Given the description of an element on the screen output the (x, y) to click on. 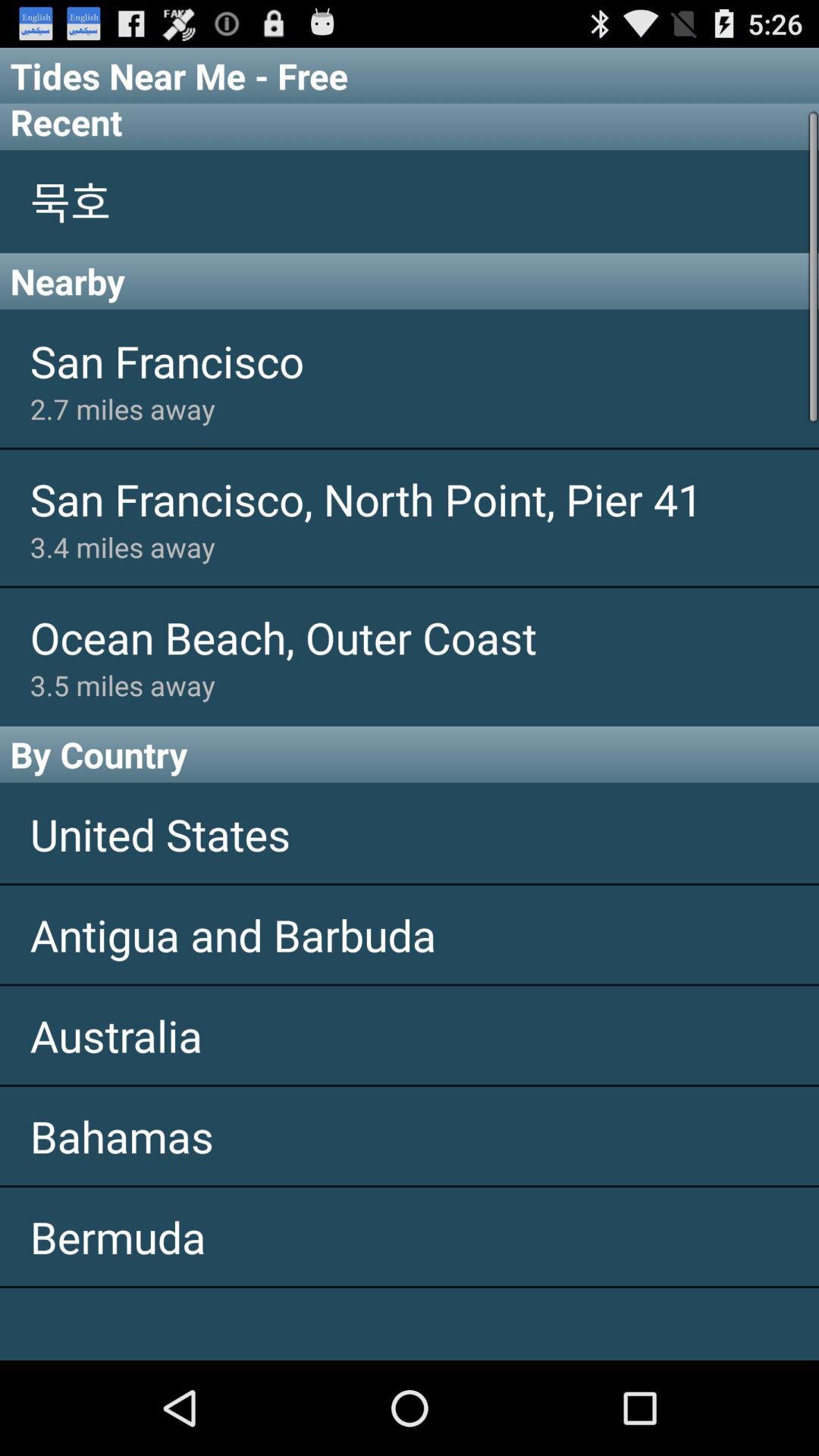
turn on the item above australia item (409, 934)
